Given the description of an element on the screen output the (x, y) to click on. 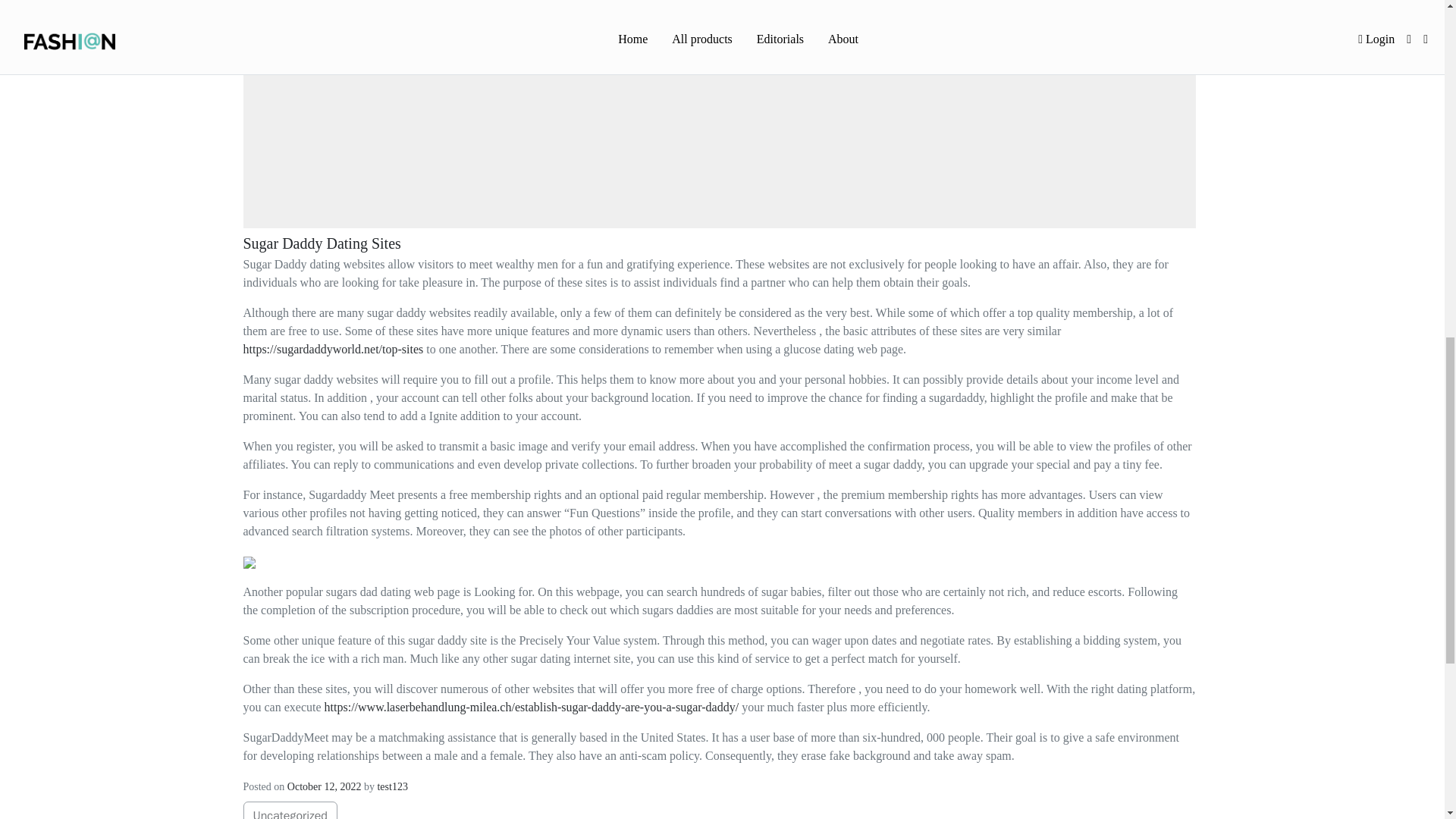
test123 (392, 786)
Uncategorized (289, 810)
October 12, 2022 (323, 786)
Uncategorized (290, 813)
